Given the description of an element on the screen output the (x, y) to click on. 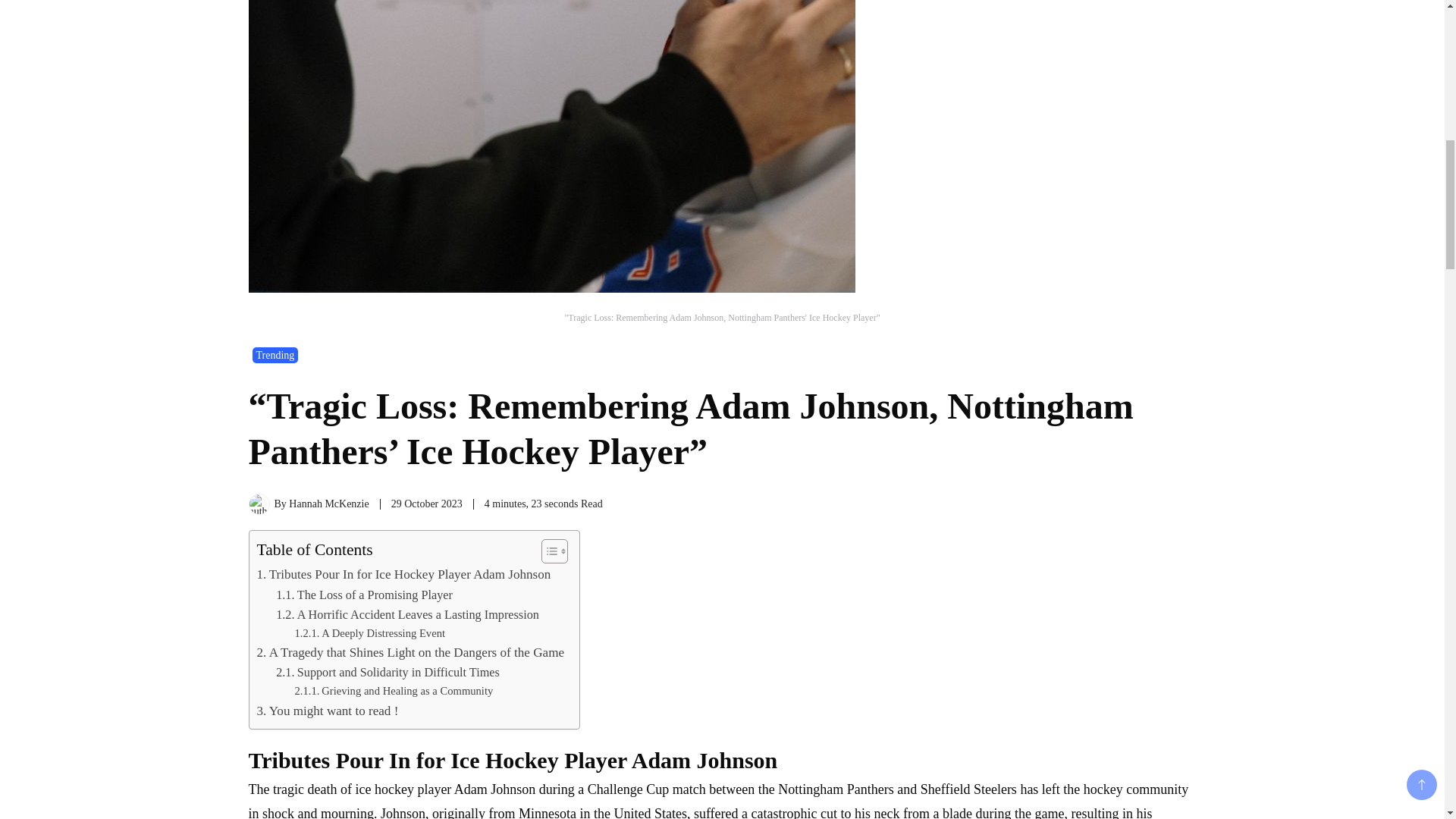
The Loss of a Promising Player (364, 595)
Support and Solidarity in Difficult Times (387, 672)
A Deeply Distressing Event (369, 633)
Hannah McKenzie (328, 503)
A Tragedy that Shines Light on the Dangers of the Game (410, 652)
The Loss of a Promising Player (364, 595)
Tributes Pour In for Ice Hockey Player Adam Johnson (403, 574)
Trending (274, 355)
Tributes Pour In for Ice Hockey Player Adam Johnson (403, 574)
29 October 2023 (427, 503)
